Given the description of an element on the screen output the (x, y) to click on. 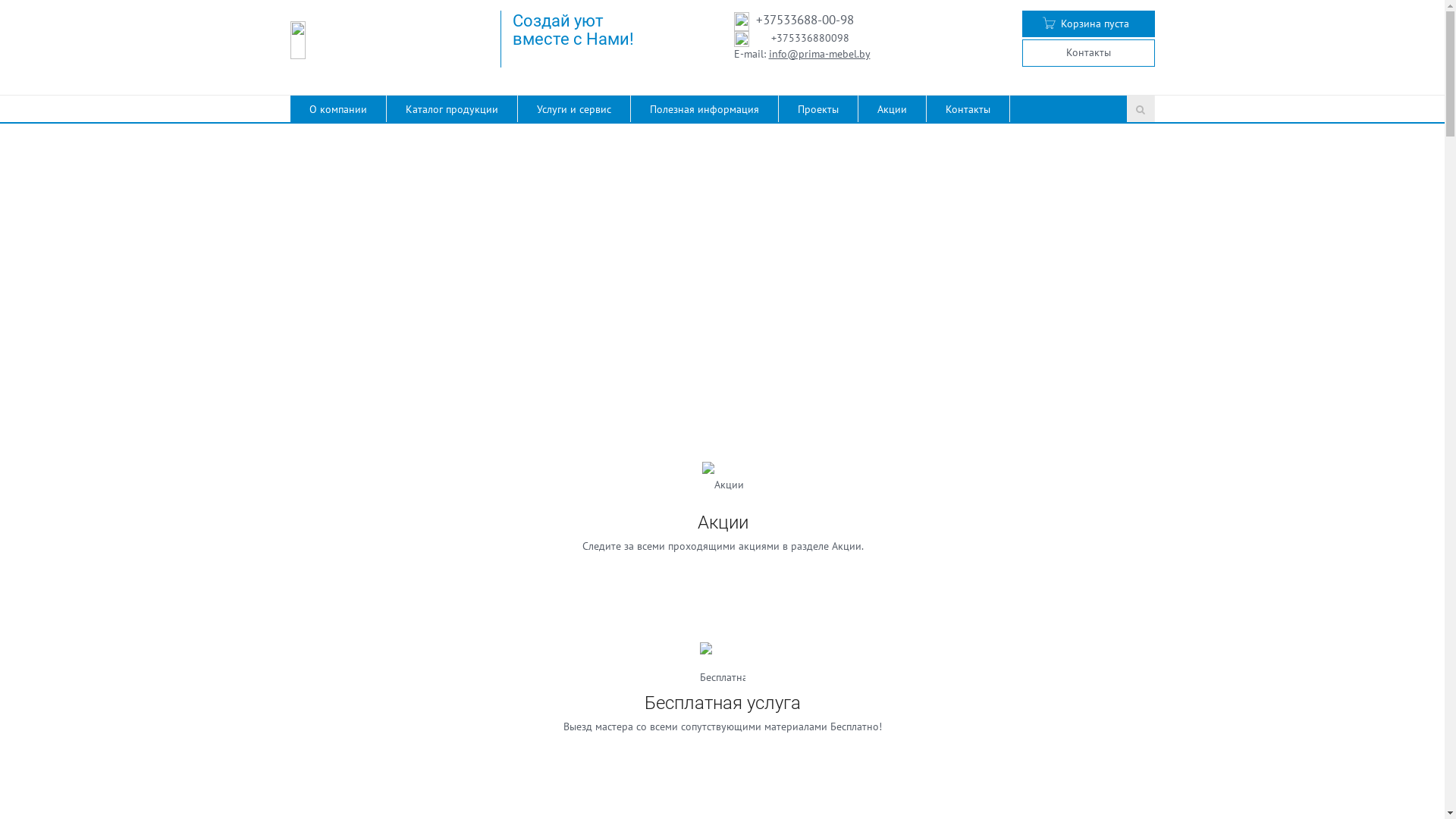
info@prima-mebel.by Element type: text (819, 53)
